Given the description of an element on the screen output the (x, y) to click on. 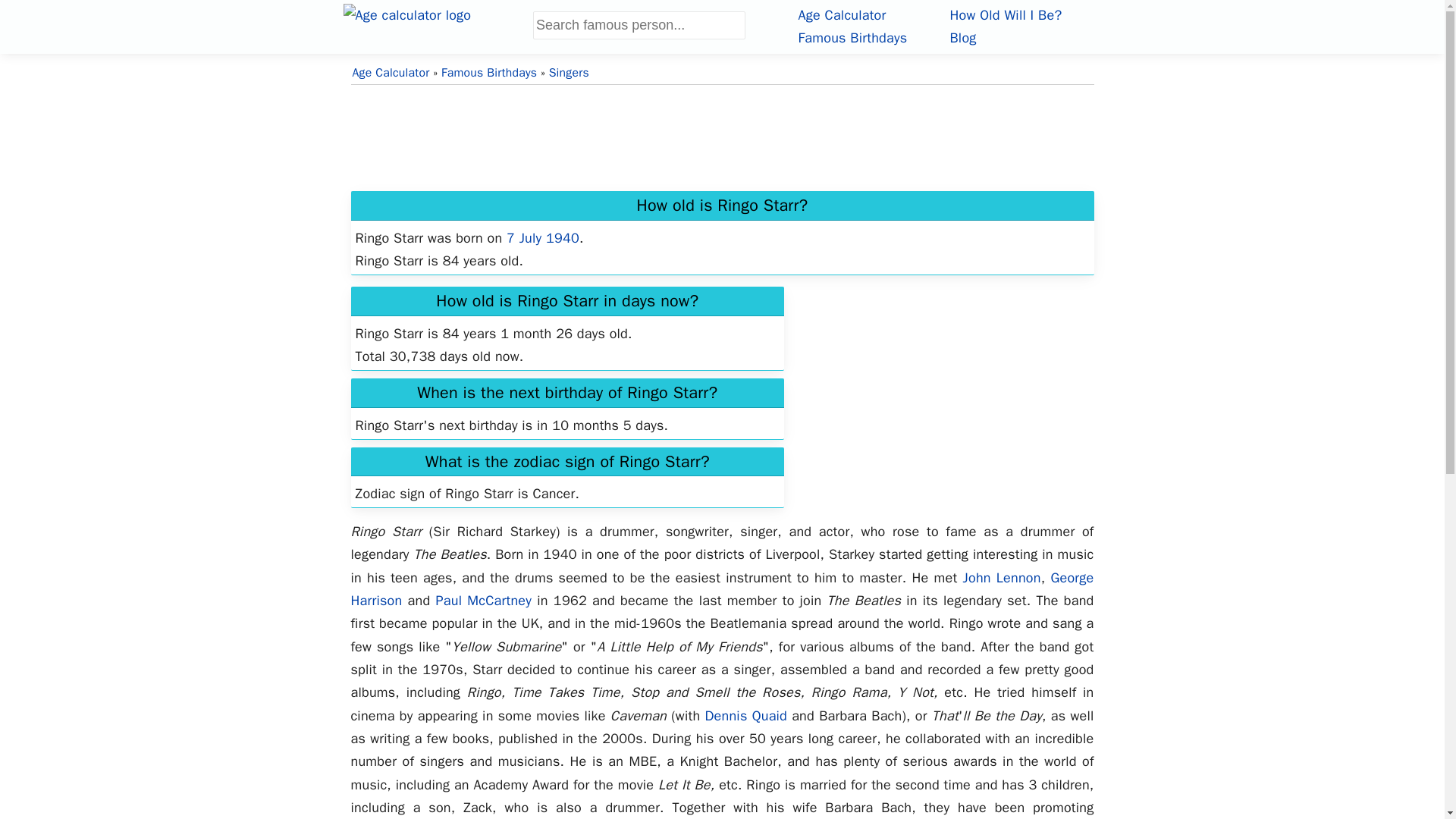
How Old Will I Be? (1005, 14)
Singers (568, 72)
Famous Birthdays (852, 37)
Paul McCartney (483, 600)
Age Calculator (841, 14)
How Old Will I Be In The Future? (1005, 14)
John Lennon (1001, 577)
Dennis Quaid (745, 715)
Blog (962, 37)
George Harrison (721, 589)
